Given the description of an element on the screen output the (x, y) to click on. 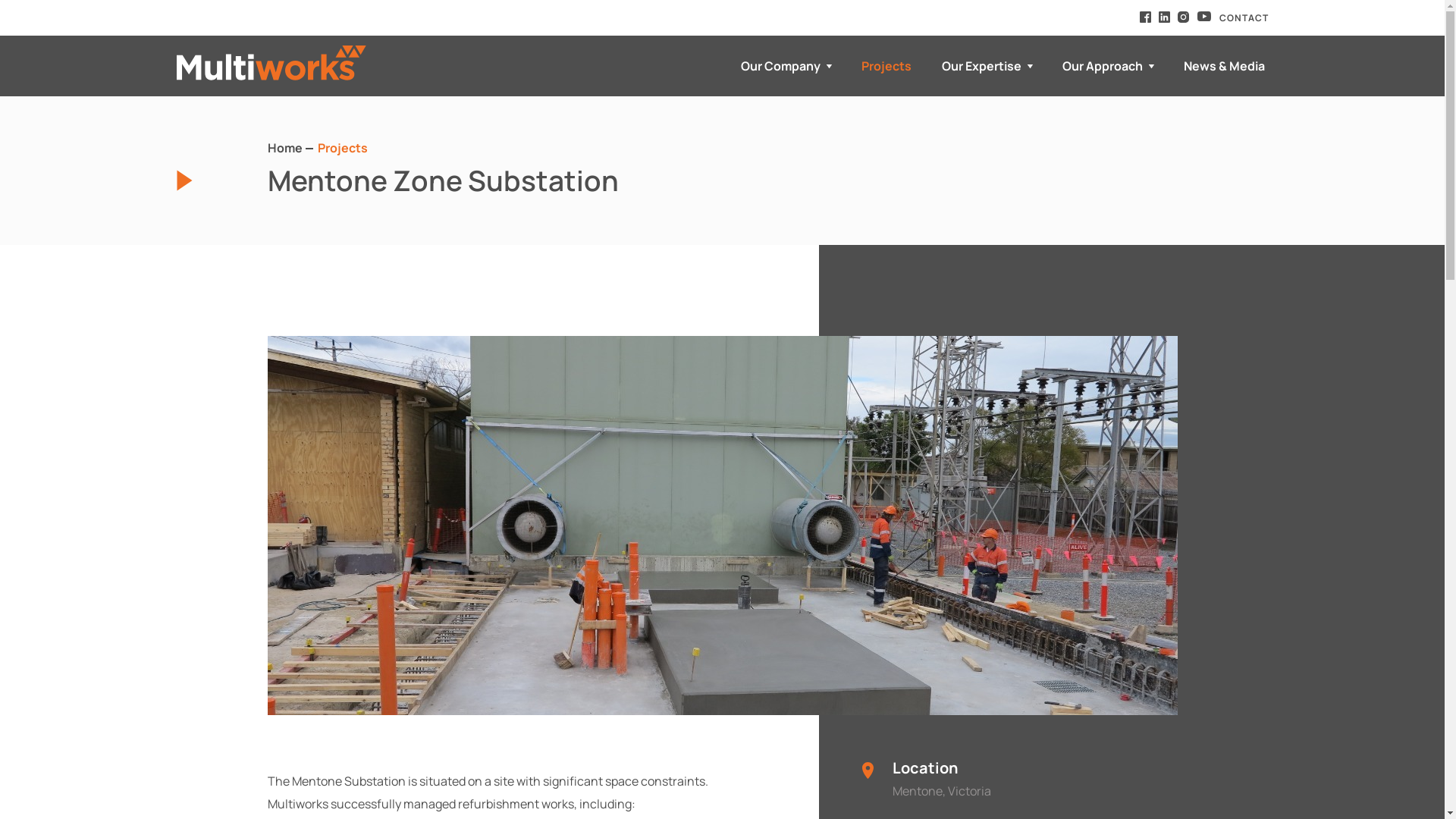
CONTACT Element type: text (1243, 17)
Projects Element type: text (885, 65)
News & Media Element type: text (1218, 65)
Home Element type: text (283, 147)
Projects Element type: text (341, 147)
